Given the description of an element on the screen output the (x, y) to click on. 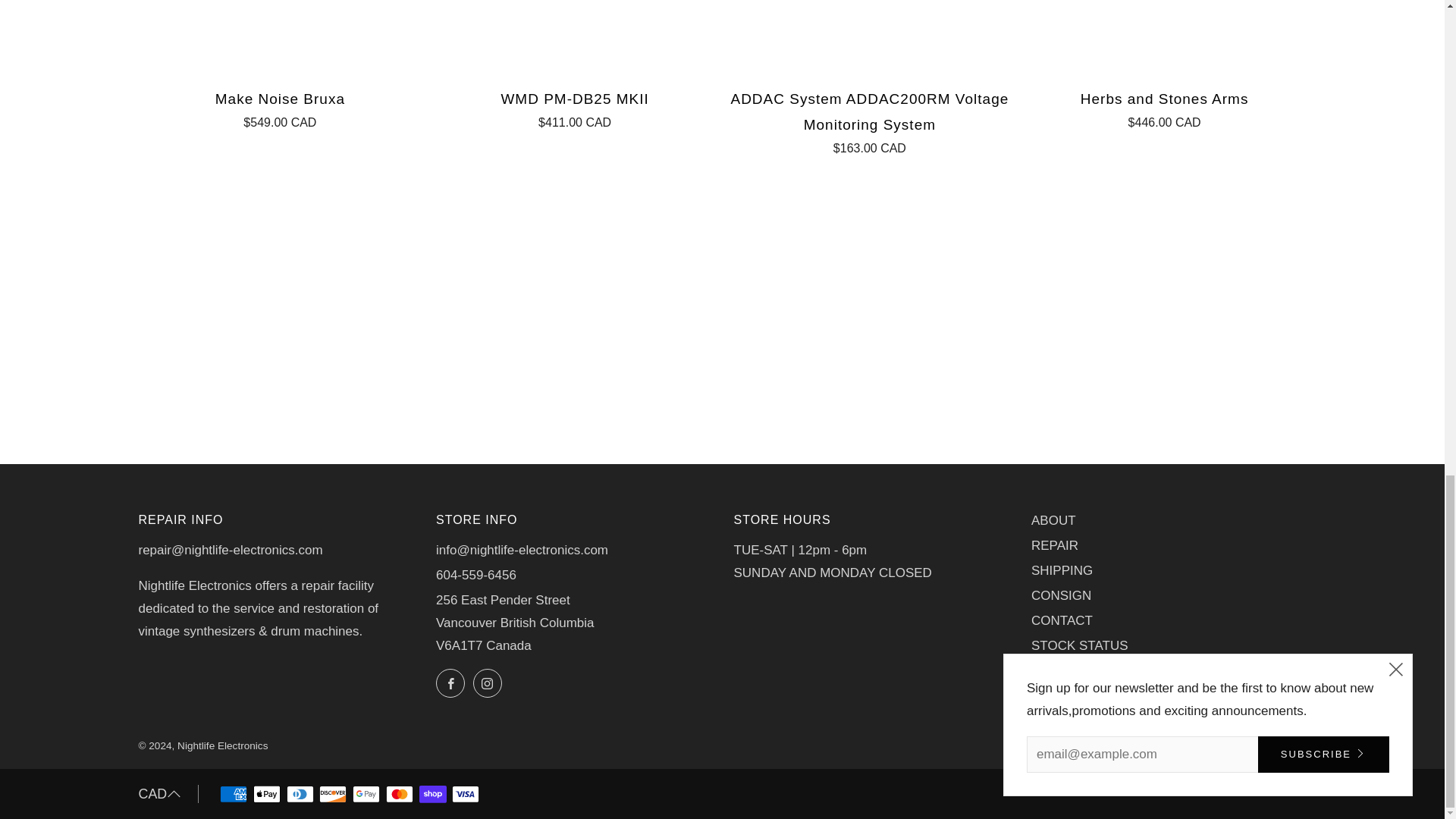
Make Noise Bruxa (280, 107)
WMD PM-DB25 MKII (574, 107)
Herbs and Stones Arms (1164, 107)
ADDAC System ADDAC200RM Voltage Monitoring System (869, 120)
